Given the description of an element on the screen output the (x, y) to click on. 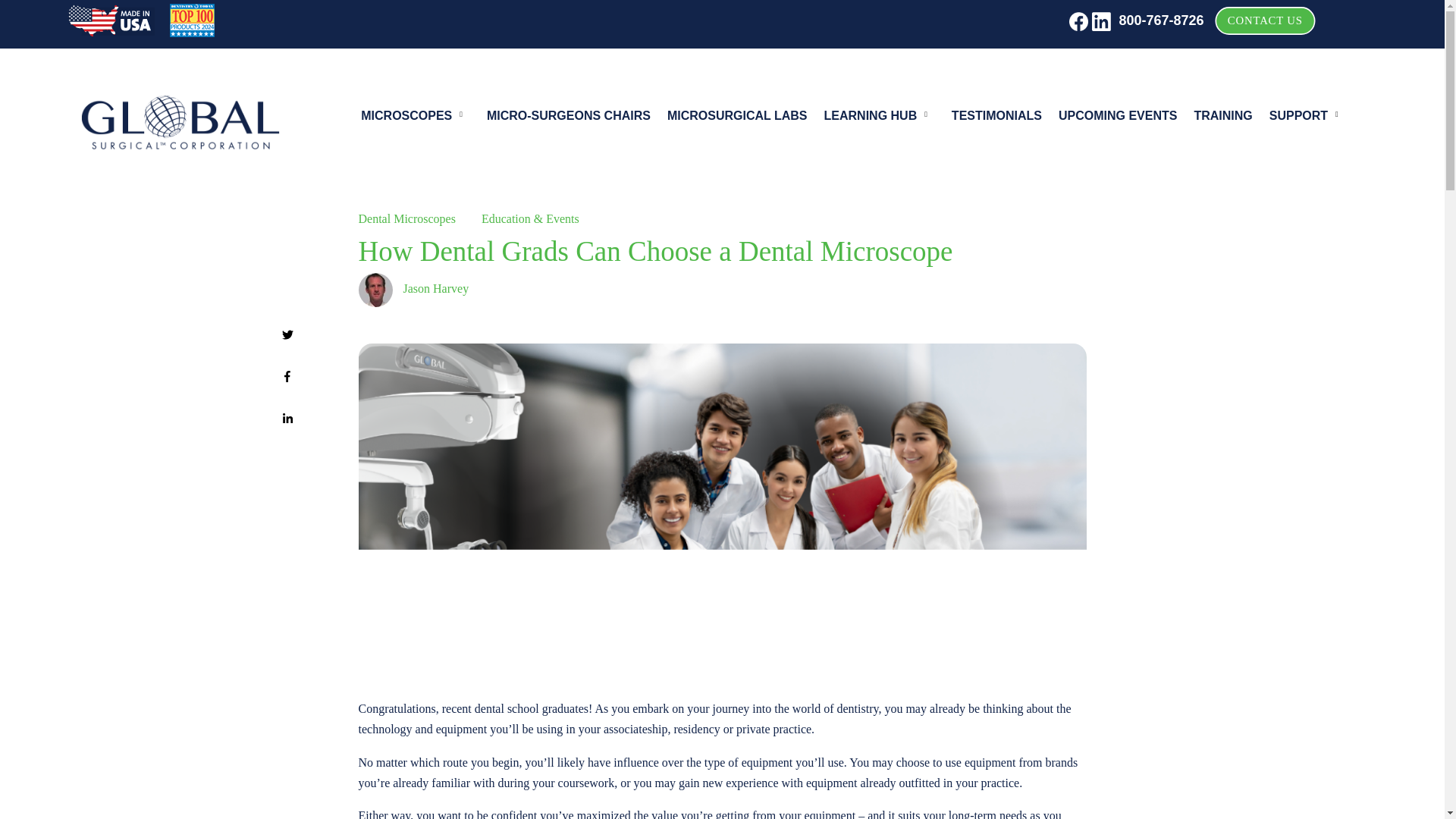
Share this blog post on Twitter (288, 334)
TESTIMONIALS (997, 118)
SUPPORT (1305, 118)
LEARNING HUB (878, 118)
MICRO-SURGEONS CHAIRS (568, 118)
CONTACT US (1275, 23)
global-surgical-corporation (180, 122)
UPCOMING EVENTS (1117, 118)
MICROSURGICAL LABS (737, 118)
